Given the description of an element on the screen output the (x, y) to click on. 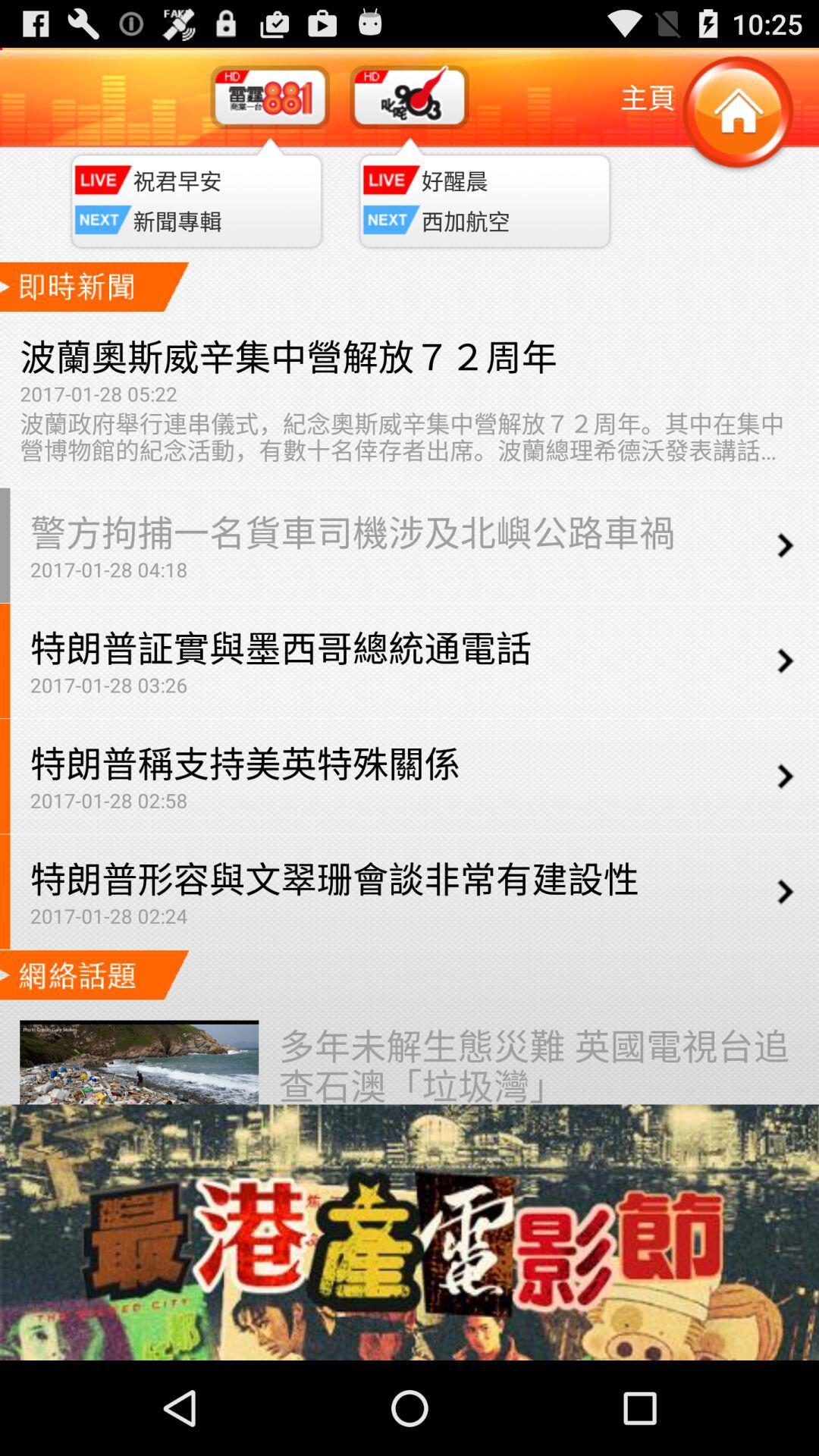
go to home (737, 113)
